Given the description of an element on the screen output the (x, y) to click on. 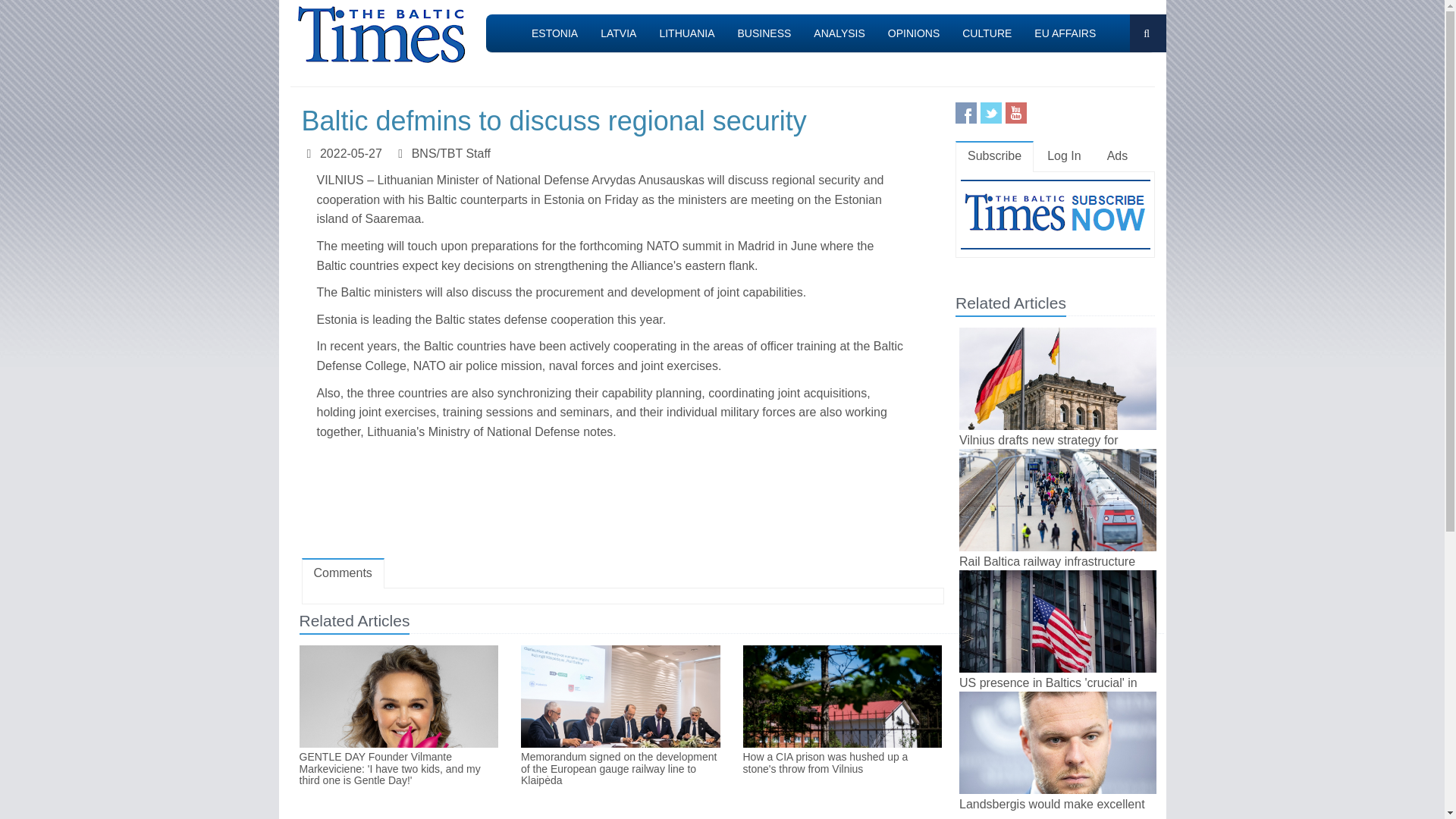
ANALYSIS (839, 33)
LATVIA (618, 33)
LITHUANIA (686, 33)
Advertisement (622, 502)
ESTONIA (554, 33)
How a CIA prison was hushed up a stone's throw from Vilnius (842, 762)
Comments (342, 572)
OPINIONS (913, 33)
BUSINESS (764, 33)
Log In (1064, 155)
Subscribe (994, 155)
CULTURE (986, 33)
